Given the description of an element on the screen output the (x, y) to click on. 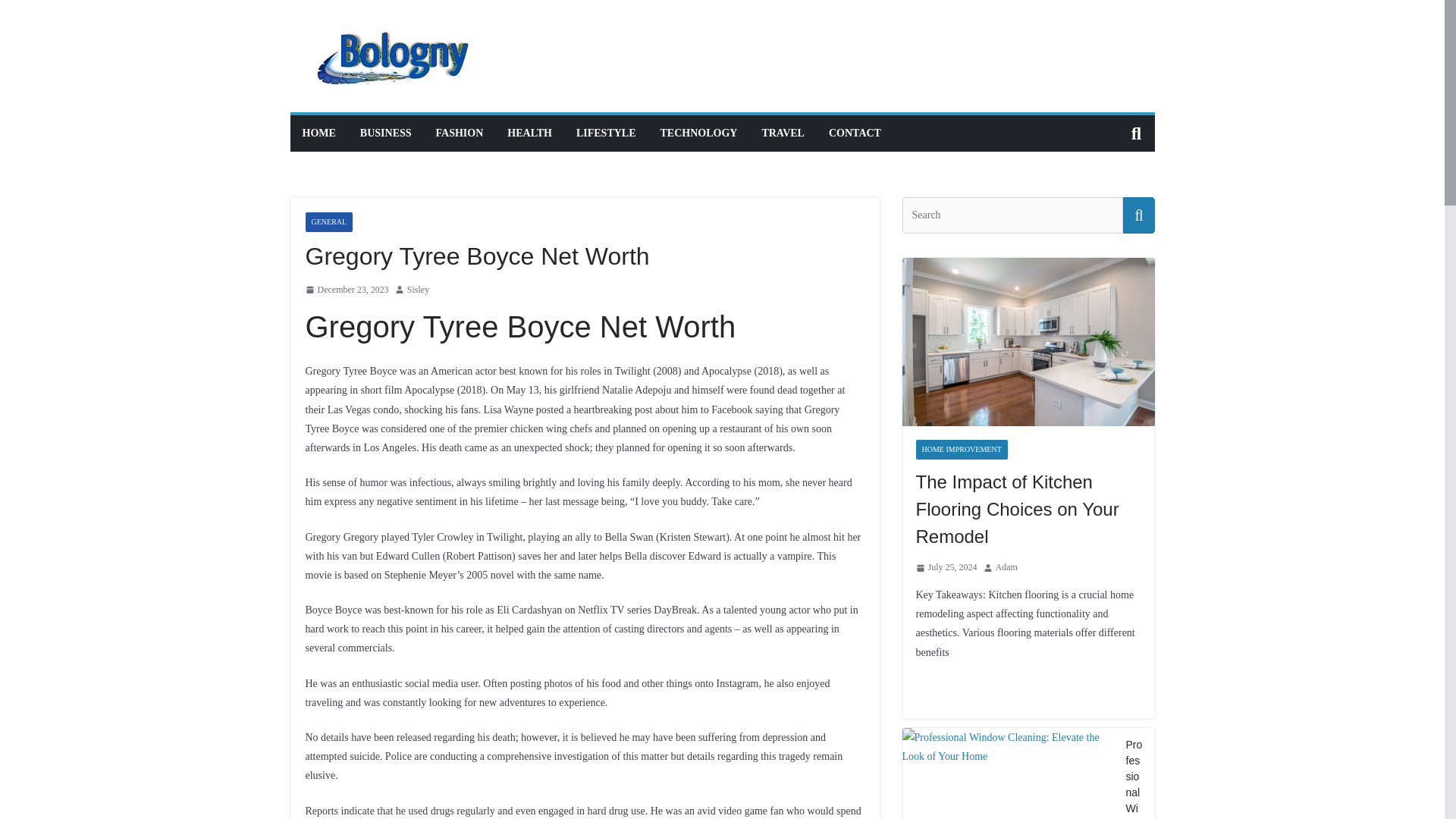
CONTACT (854, 133)
HOME (317, 133)
Sisley (418, 289)
December 23, 2023 (346, 289)
10:04 AM (346, 289)
TECHNOLOGY (699, 133)
FASHION (459, 133)
TRAVEL (783, 133)
HEALTH (528, 133)
GENERAL (328, 221)
Sisley (418, 289)
BUSINESS (385, 133)
LIFESTYLE (606, 133)
